Given the description of an element on the screen output the (x, y) to click on. 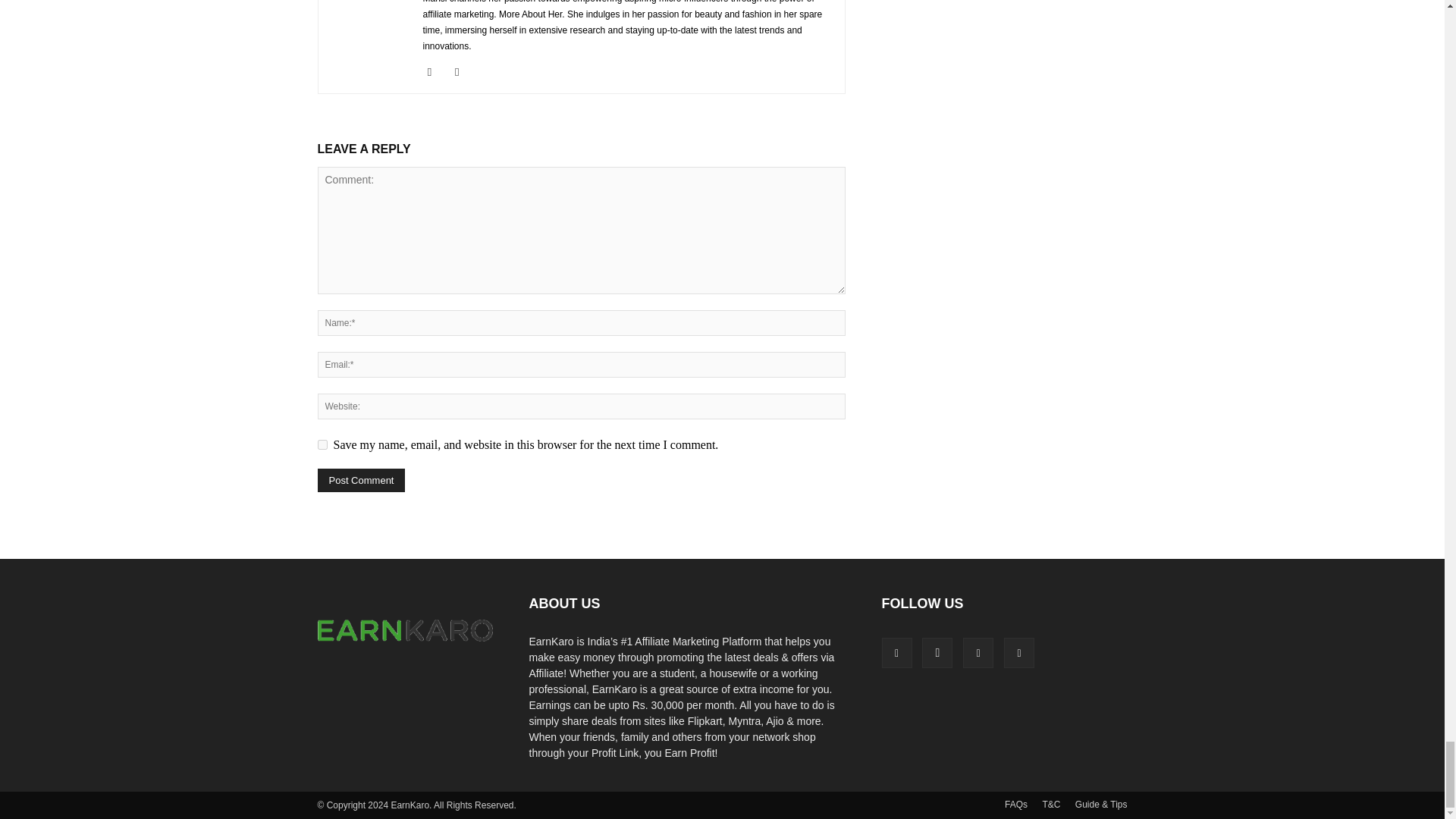
yes (321, 444)
Post Comment (360, 480)
Linkedin (435, 72)
Mail (462, 72)
